Given the description of an element on the screen output the (x, y) to click on. 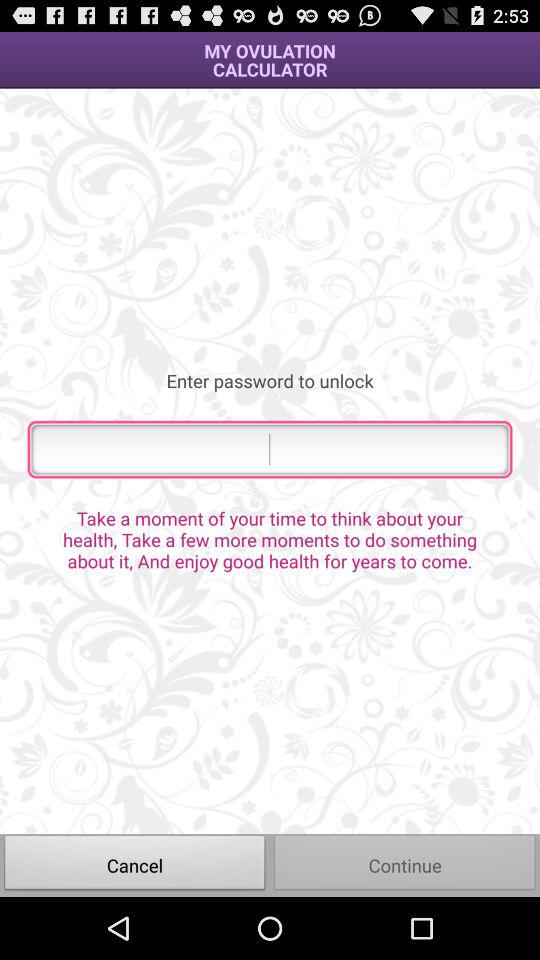
press the cancel button (135, 864)
